Given the description of an element on the screen output the (x, y) to click on. 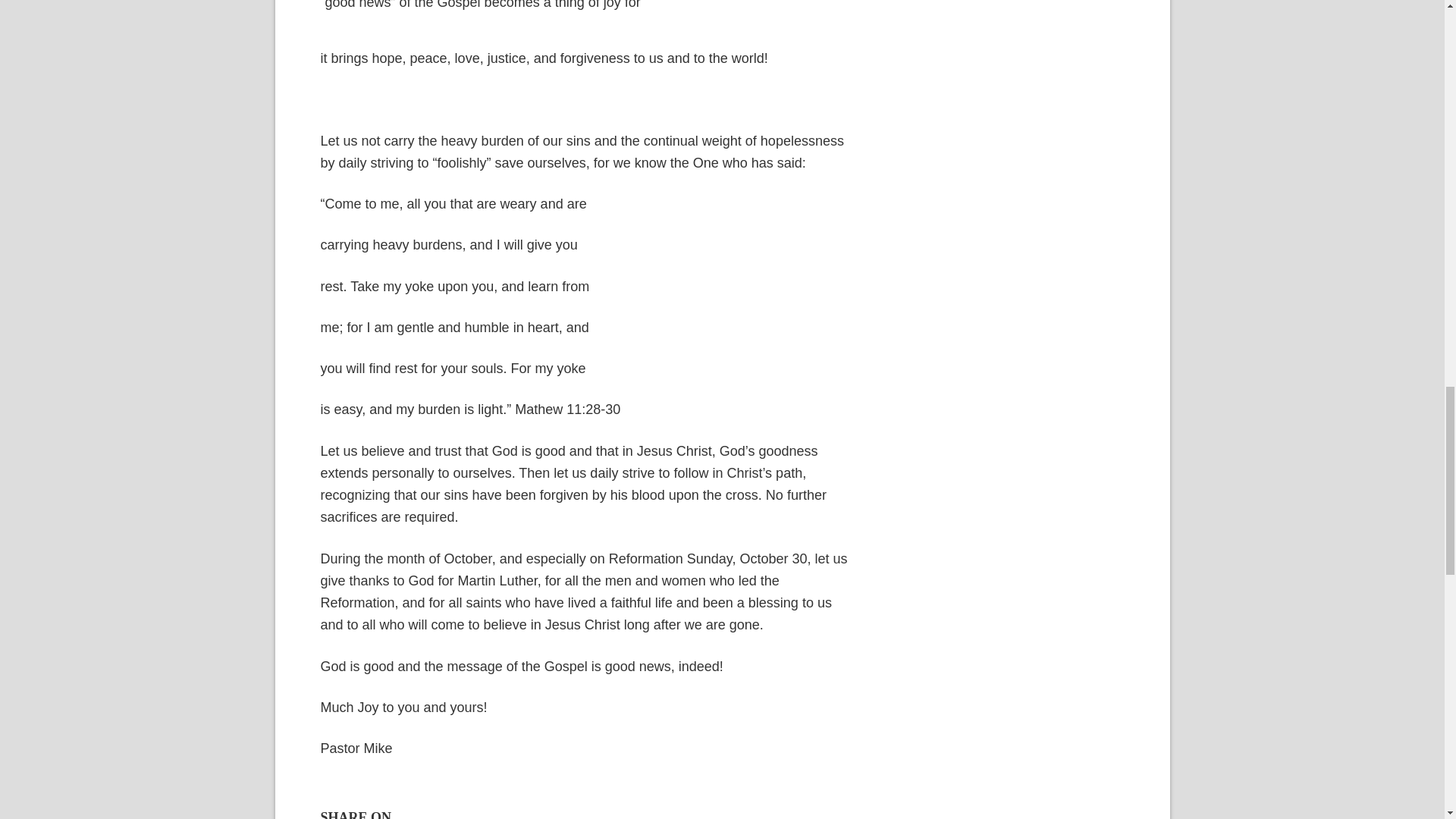
Page 1 (585, 24)
